Given the description of an element on the screen output the (x, y) to click on. 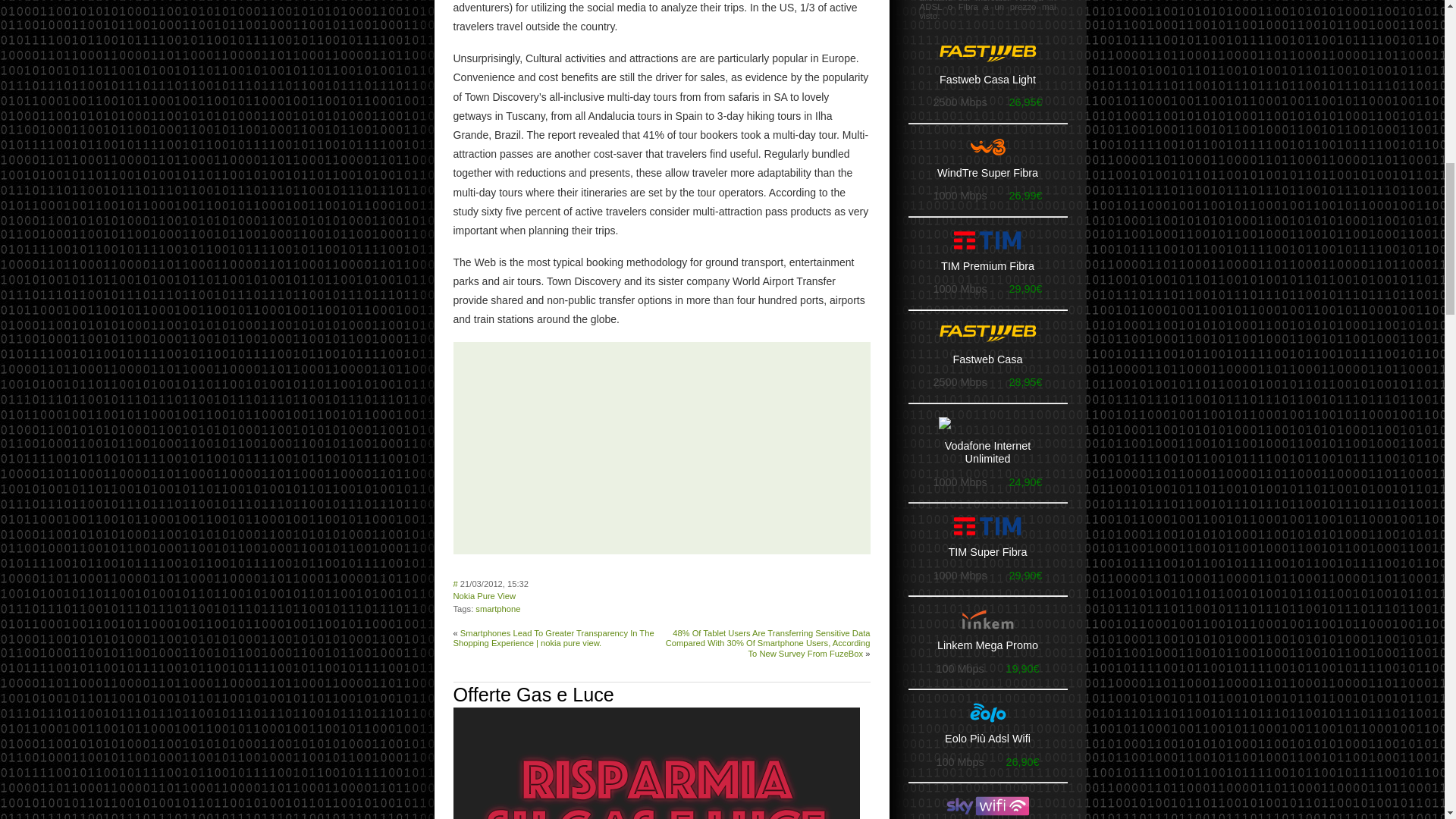
Offerte Fastweb Casa (987, 53)
Offerte ADSL Fibra WindTre (987, 147)
Offerte Internet Fibra TIM (987, 240)
smartphone (497, 608)
Linkem Mega Promo (987, 645)
TIM Premium Fibra (987, 266)
TIM Premium Fibra: la nuova offerta internet (987, 266)
Vodafone Internet Unlimited (987, 452)
WindTre Super Fibra (987, 173)
Fastweb Casa Light (987, 79)
